Given the description of an element on the screen output the (x, y) to click on. 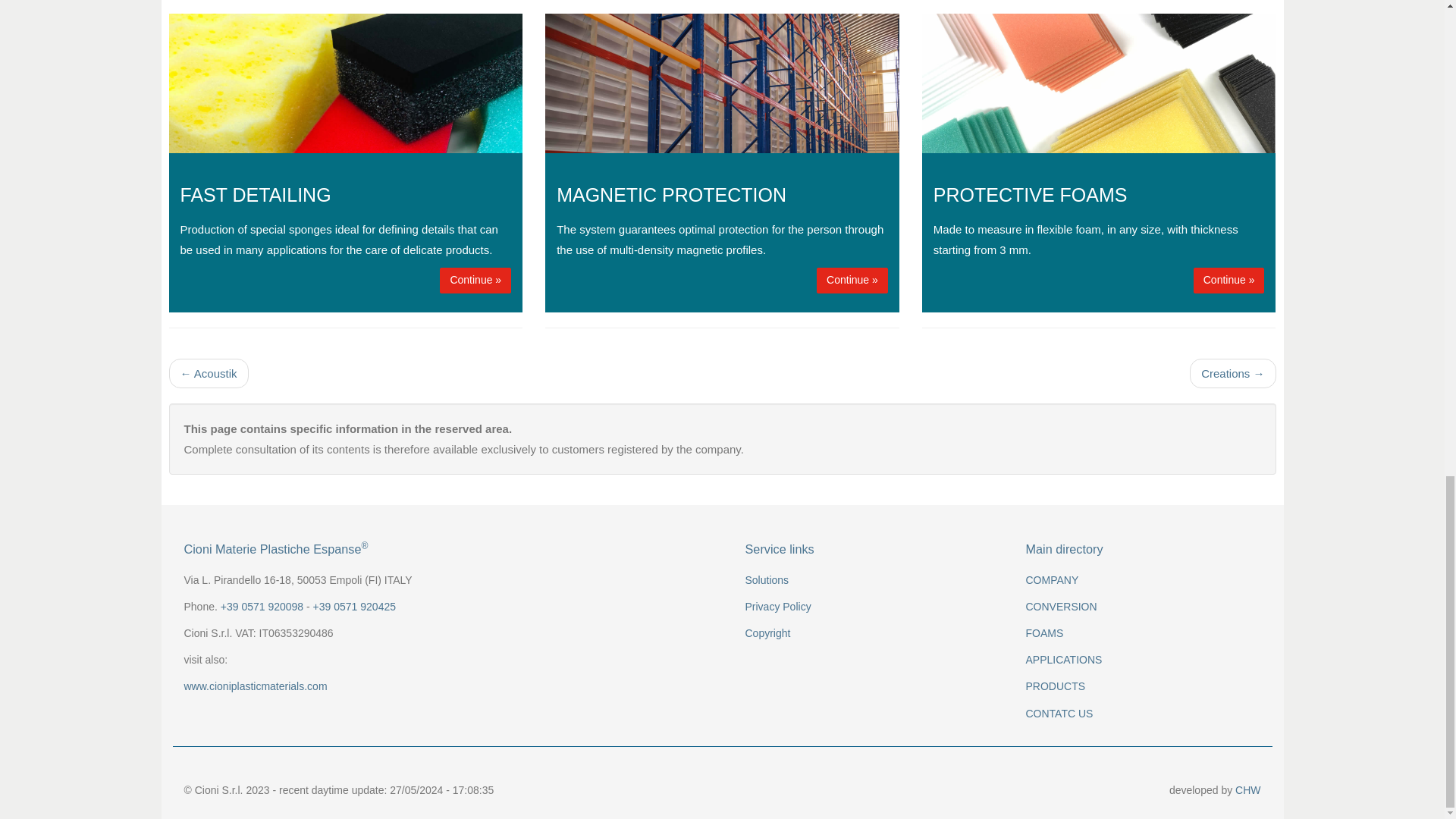
Protective foam panels (1229, 280)
Comunity Humanity Works (1247, 789)
